Given the description of an element on the screen output the (x, y) to click on. 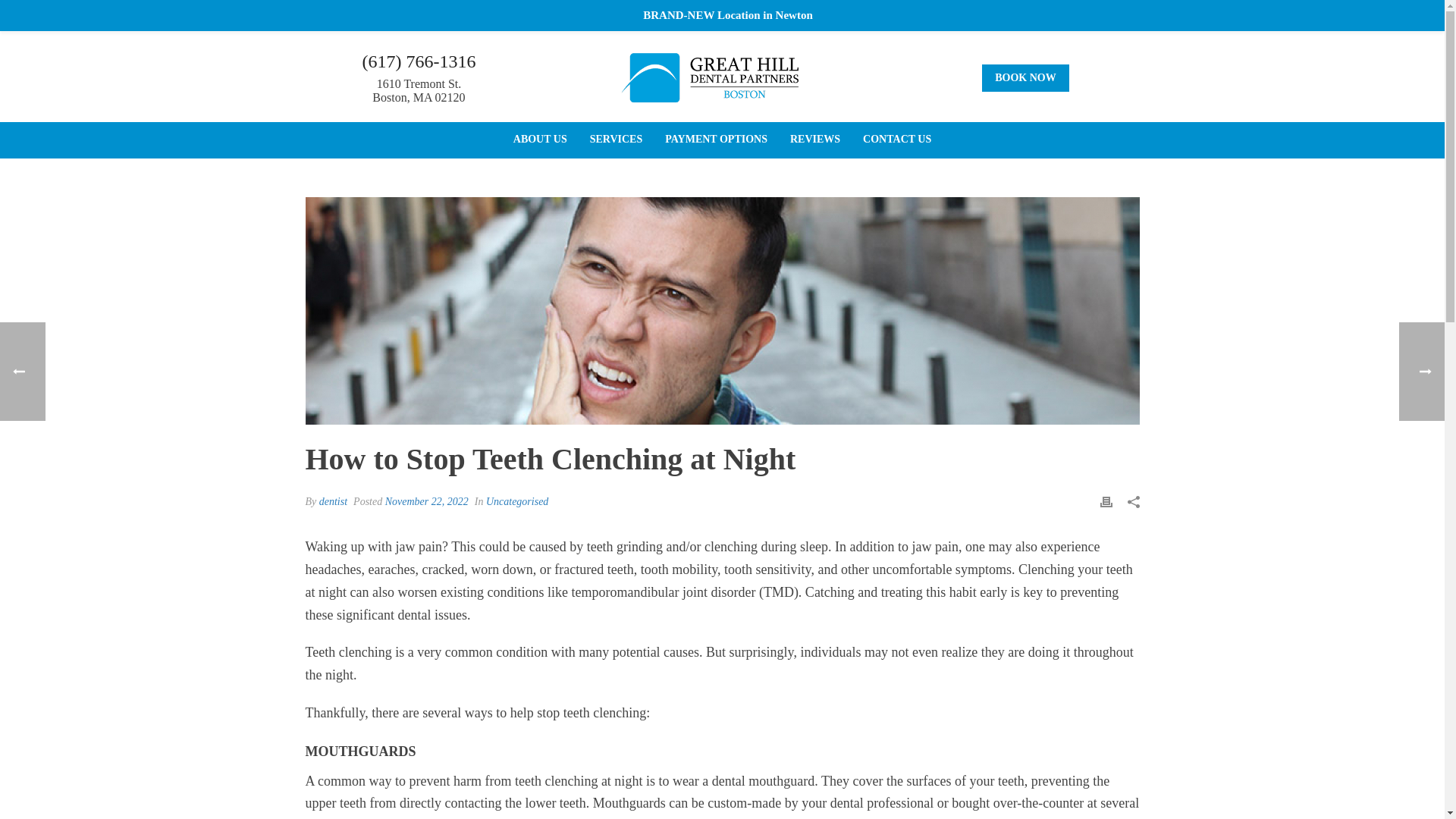
PAYMENT OPTIONS (715, 140)
BOOK NOW (1024, 77)
PAYMENT OPTIONS (715, 140)
CONTACT US (896, 140)
REVIEWS (814, 140)
ABOUT US (540, 140)
CONTACT US (896, 140)
SERVICES (615, 140)
REVIEWS (814, 140)
